Given the description of an element on the screen output the (x, y) to click on. 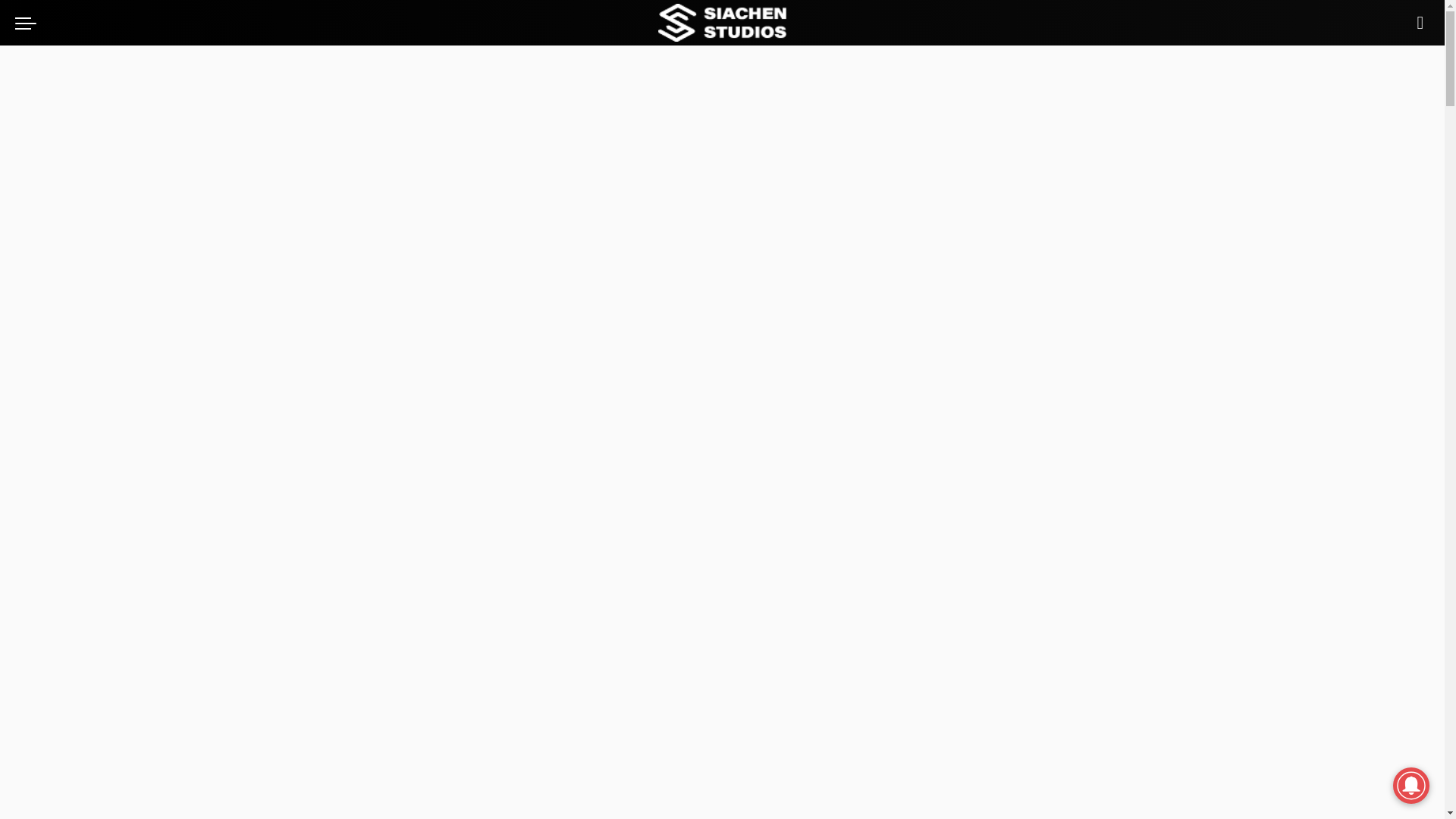
Search (1419, 22)
